Given the description of an element on the screen output the (x, y) to click on. 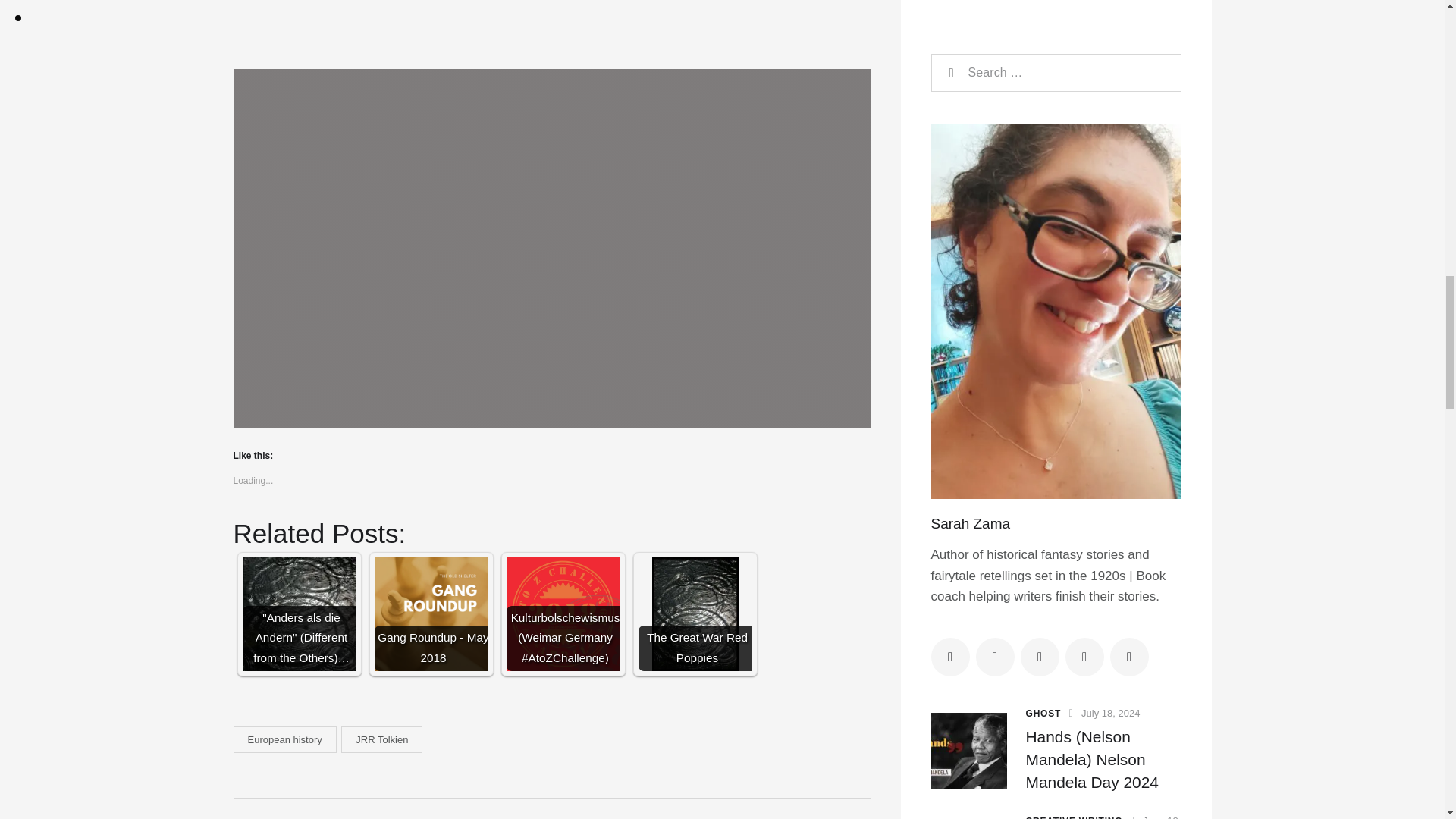
Gang Roundup - May 2018 (430, 613)
